Given the description of an element on the screen output the (x, y) to click on. 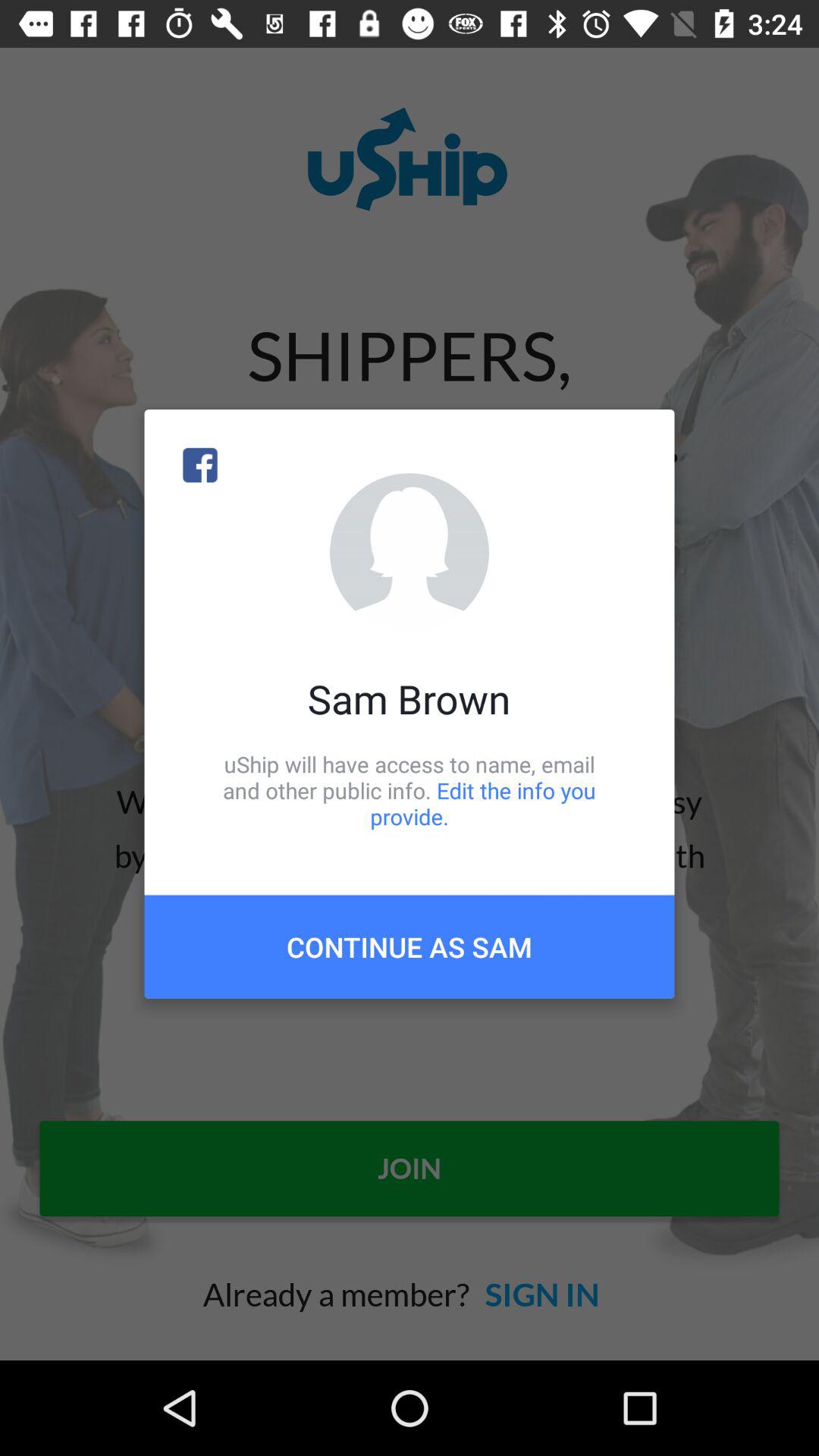
jump until continue as sam (409, 946)
